Given the description of an element on the screen output the (x, y) to click on. 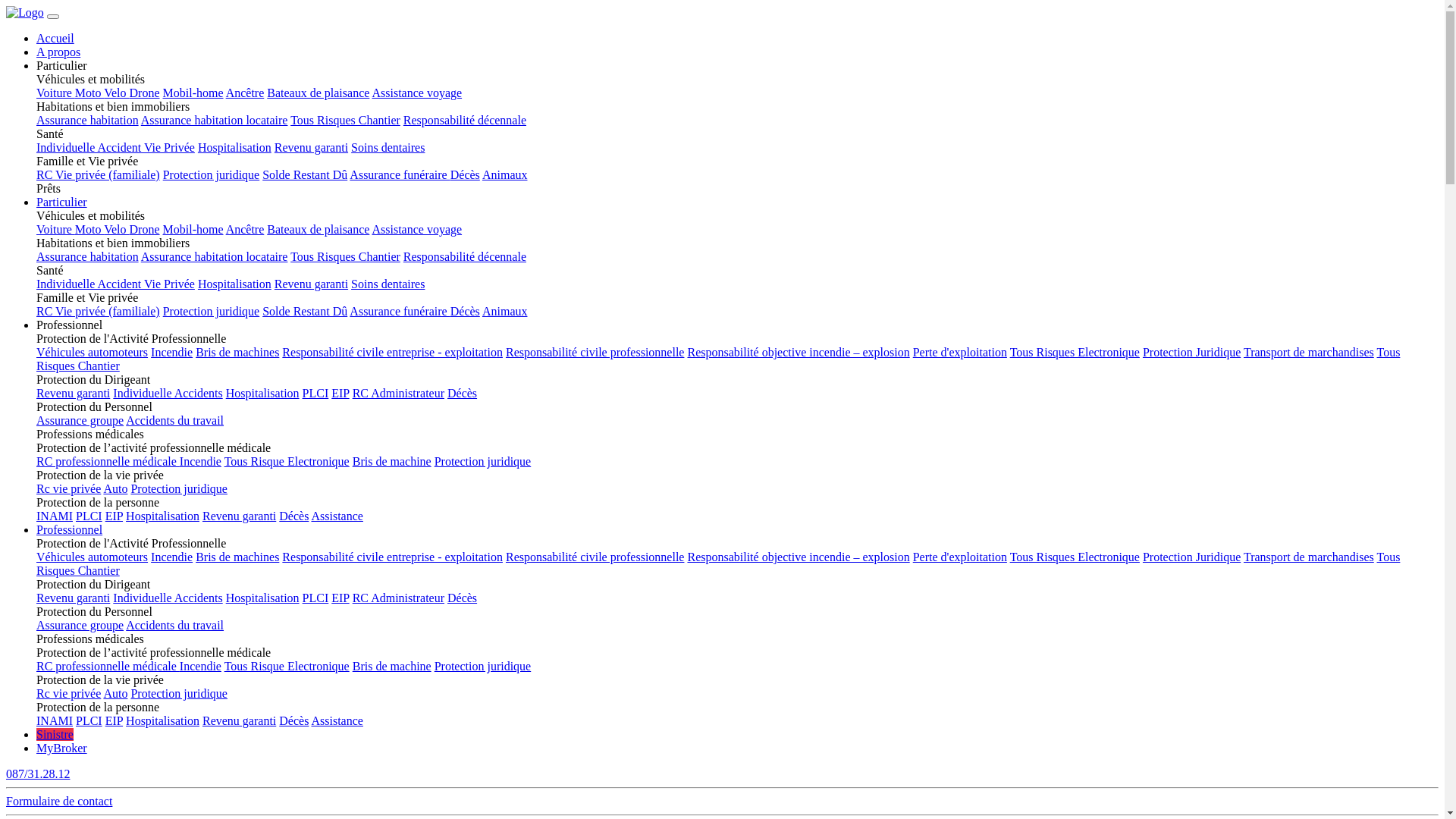
Accidents du travail Element type: text (174, 420)
Assurance groupe Element type: text (79, 624)
Particulier Element type: text (737, 65)
Protection juridique Element type: text (178, 488)
Incendie Element type: text (200, 461)
Protection du Personnel Element type: text (737, 407)
Assistance voyage Element type: text (416, 92)
Incendie Element type: text (171, 351)
Auto Element type: text (115, 488)
EIP Element type: text (339, 597)
Protection juridique Element type: text (178, 693)
Incendie Element type: text (171, 556)
Animaux Element type: text (504, 174)
Assurance habitation Element type: text (87, 119)
INAMI Element type: text (54, 720)
Accueil Element type: text (55, 37)
Assurance habitation locataire Element type: text (214, 256)
Drone Element type: text (144, 228)
Protection du Dirigeant Element type: text (737, 379)
Perte d'exploitation Element type: text (960, 351)
Moto Element type: text (89, 92)
Accidents du travail Element type: text (174, 624)
Assurance habitation Element type: text (87, 256)
087/31.28.12 Element type: text (722, 774)
Velo Element type: text (115, 228)
Protection juridique Element type: text (211, 174)
Assurance groupe Element type: text (79, 420)
Bris de machines Element type: text (237, 351)
PLCI Element type: text (315, 597)
Hospitalisation Element type: text (262, 392)
Protection Juridique Element type: text (1191, 351)
Perte d'exploitation Element type: text (960, 556)
Revenu garanti Element type: text (72, 597)
Mobil-home Element type: text (193, 228)
Habitations et bien immobiliers Element type: text (737, 106)
RC Administrateur Element type: text (398, 392)
Revenu garanti Element type: text (239, 515)
Bateaux de plaisance Element type: text (317, 228)
Individuelle Accidents Element type: text (167, 392)
Incendie Element type: text (200, 665)
PLCI Element type: text (88, 515)
Tous Risques Chantier Element type: text (345, 119)
Hospitalisation Element type: text (162, 720)
Animaux Element type: text (504, 310)
Revenu garanti Element type: text (311, 147)
Sinistre Element type: text (54, 734)
Revenu garanti Element type: text (239, 720)
Formulaire de contact Element type: text (722, 801)
Tous Risque Electronique Element type: text (286, 665)
EIP Element type: text (339, 392)
Tous Risques Electronique Element type: text (1074, 351)
Professionnel Element type: text (737, 325)
Revenu garanti Element type: text (72, 392)
RC Administrateur Element type: text (398, 597)
Assistance voyage Element type: text (416, 228)
Transport de marchandises Element type: text (1308, 351)
Bateaux de plaisance Element type: text (317, 92)
Tous Risque Electronique Element type: text (286, 461)
PLCI Element type: text (88, 720)
Voiture Element type: text (55, 92)
Hospitalisation Element type: text (234, 147)
Velo Element type: text (115, 92)
Mobil-home Element type: text (193, 92)
Voiture Element type: text (55, 228)
Tous Risques Chantier Element type: text (717, 563)
Bris de machine Element type: text (391, 461)
Bris de machines Element type: text (237, 556)
Particulier Element type: text (61, 201)
MyBroker Element type: text (61, 747)
A propos Element type: text (58, 51)
Individuelle Accidents Element type: text (167, 597)
Hospitalisation Element type: text (234, 283)
PLCI Element type: text (315, 392)
Protection juridique Element type: text (482, 665)
Auto Element type: text (115, 693)
Protection Juridique Element type: text (1191, 556)
Protection juridique Element type: text (211, 310)
Assistance Element type: text (336, 515)
Transport de marchandises Element type: text (1308, 556)
Tous Risques Electronique Element type: text (1074, 556)
INAMI Element type: text (54, 515)
Soins dentaires Element type: text (387, 283)
Revenu garanti Element type: text (311, 283)
Protection juridique Element type: text (482, 461)
Drone Element type: text (144, 92)
Professionnel Element type: text (69, 529)
Moto Element type: text (89, 228)
Tous Risques Chantier Element type: text (717, 358)
EIP Element type: text (113, 515)
Assurance habitation locataire Element type: text (214, 119)
Hospitalisation Element type: text (262, 597)
Tous Risques Chantier Element type: text (345, 256)
Hospitalisation Element type: text (162, 515)
Soins dentaires Element type: text (387, 147)
Bris de machine Element type: text (391, 665)
Assistance Element type: text (336, 720)
EIP Element type: text (113, 720)
